Given the description of an element on the screen output the (x, y) to click on. 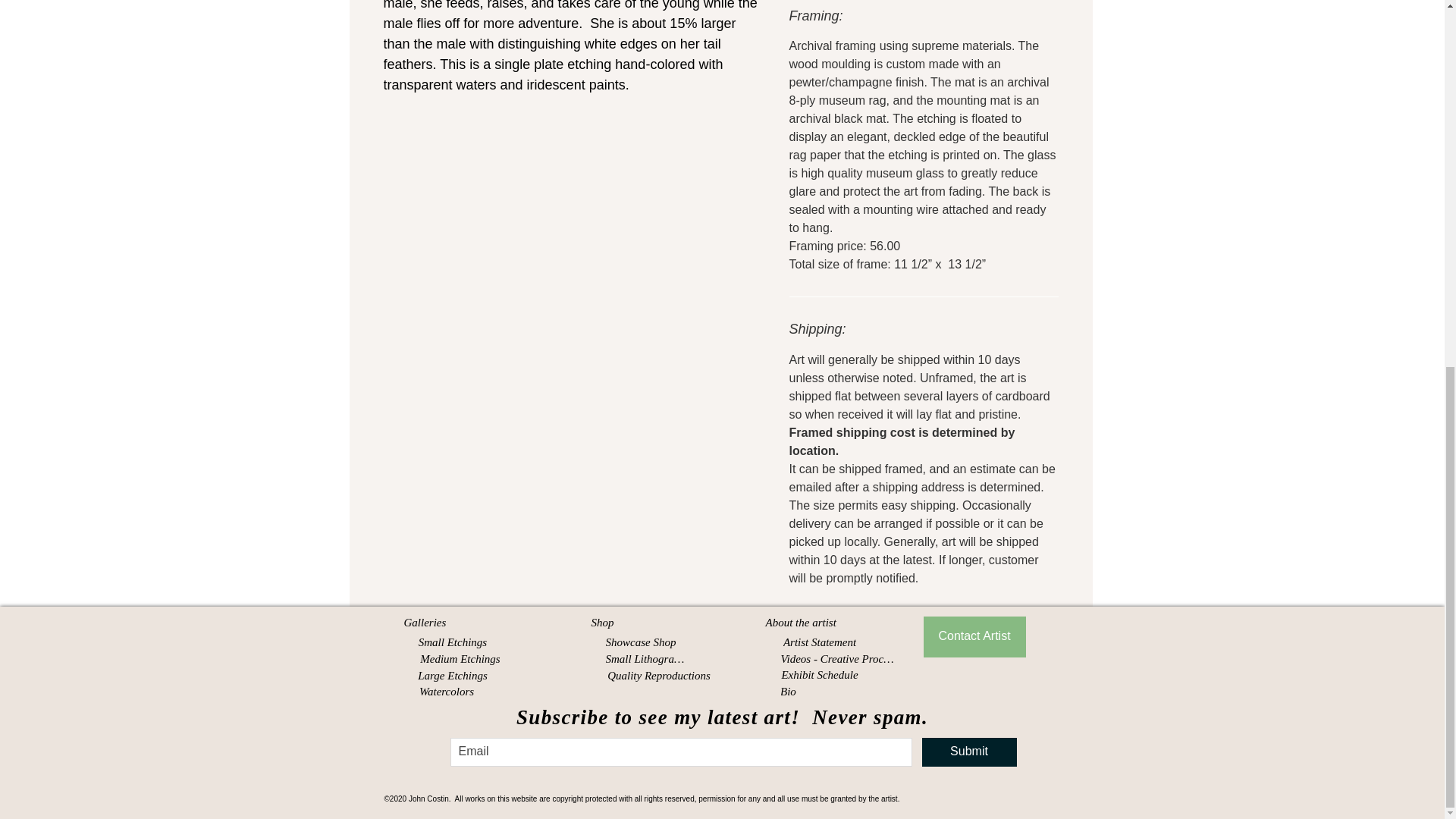
Quality Reproductions (659, 675)
Bio (789, 691)
Artist Statement (818, 642)
Videos - Creative Process (837, 659)
Exhibit Schedule (818, 675)
Large Etchings (452, 675)
Showcase Shop (641, 642)
Submit (968, 751)
Contact Artist (974, 636)
Small Lithographs (647, 659)
Small Etchings (452, 642)
Medium Etchings (459, 659)
Watercolors (446, 691)
